Given the description of an element on the screen output the (x, y) to click on. 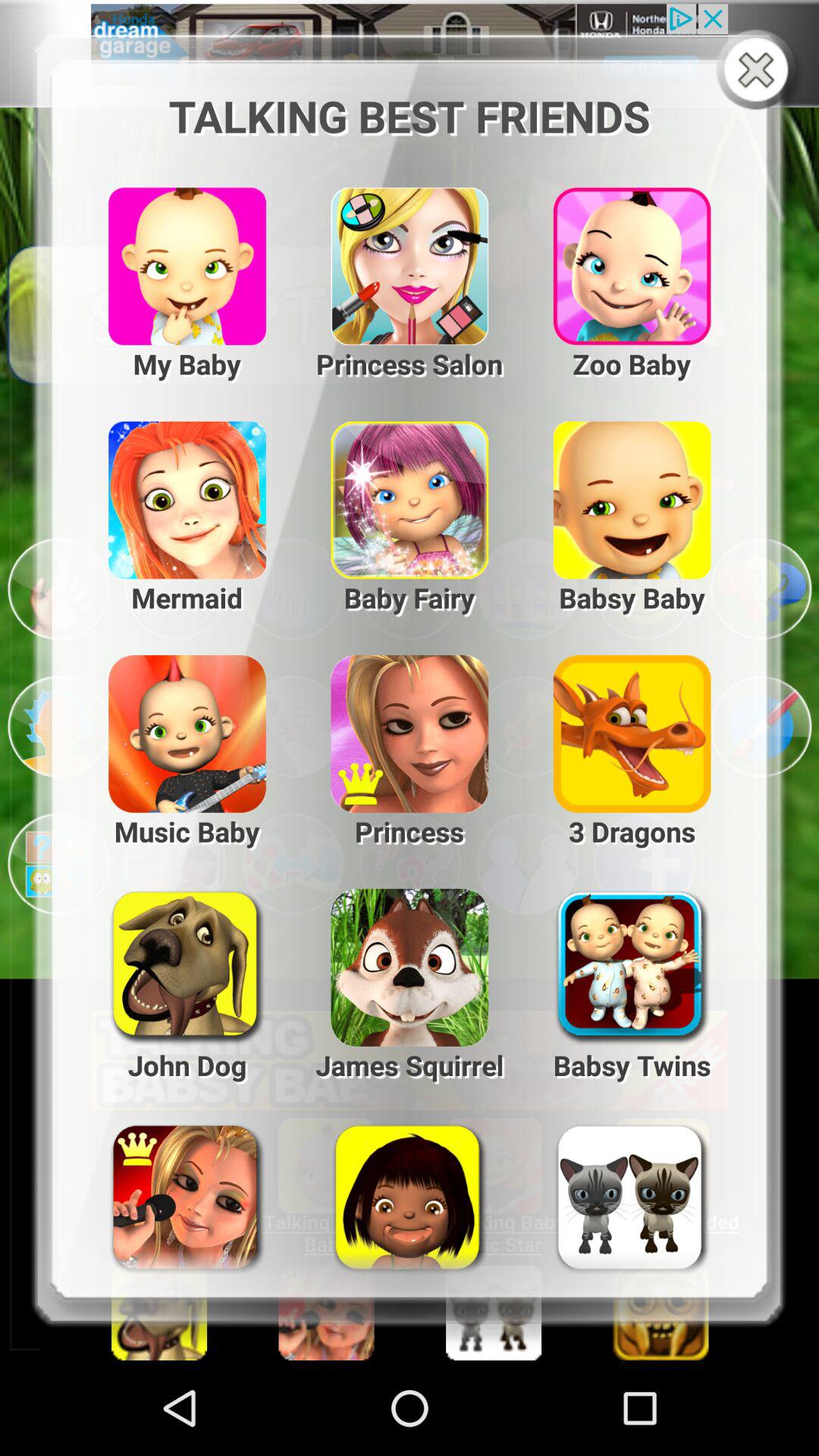
close this screen (759, 71)
